Given the description of an element on the screen output the (x, y) to click on. 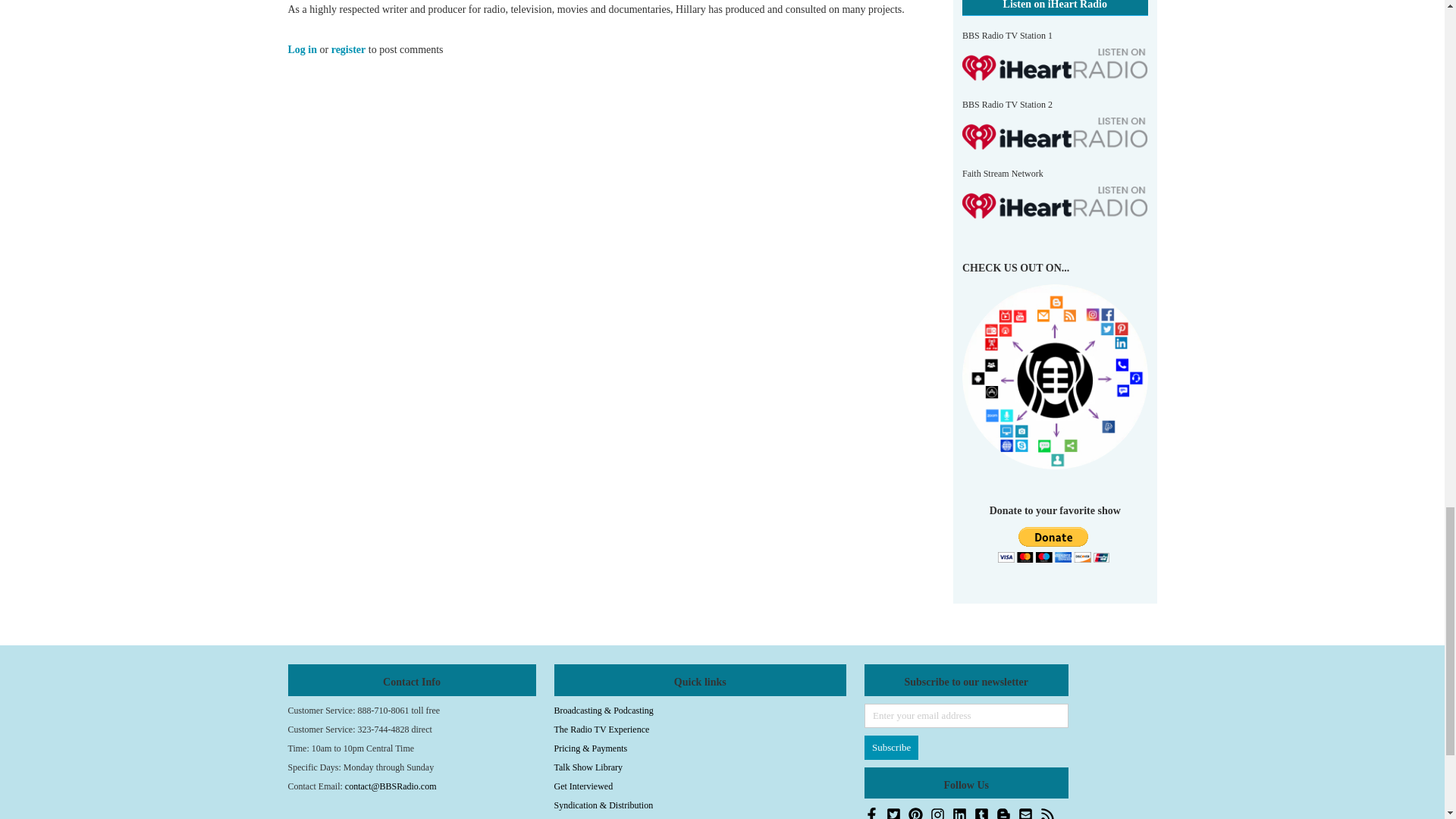
Subscribe (891, 747)
